Given the description of an element on the screen output the (x, y) to click on. 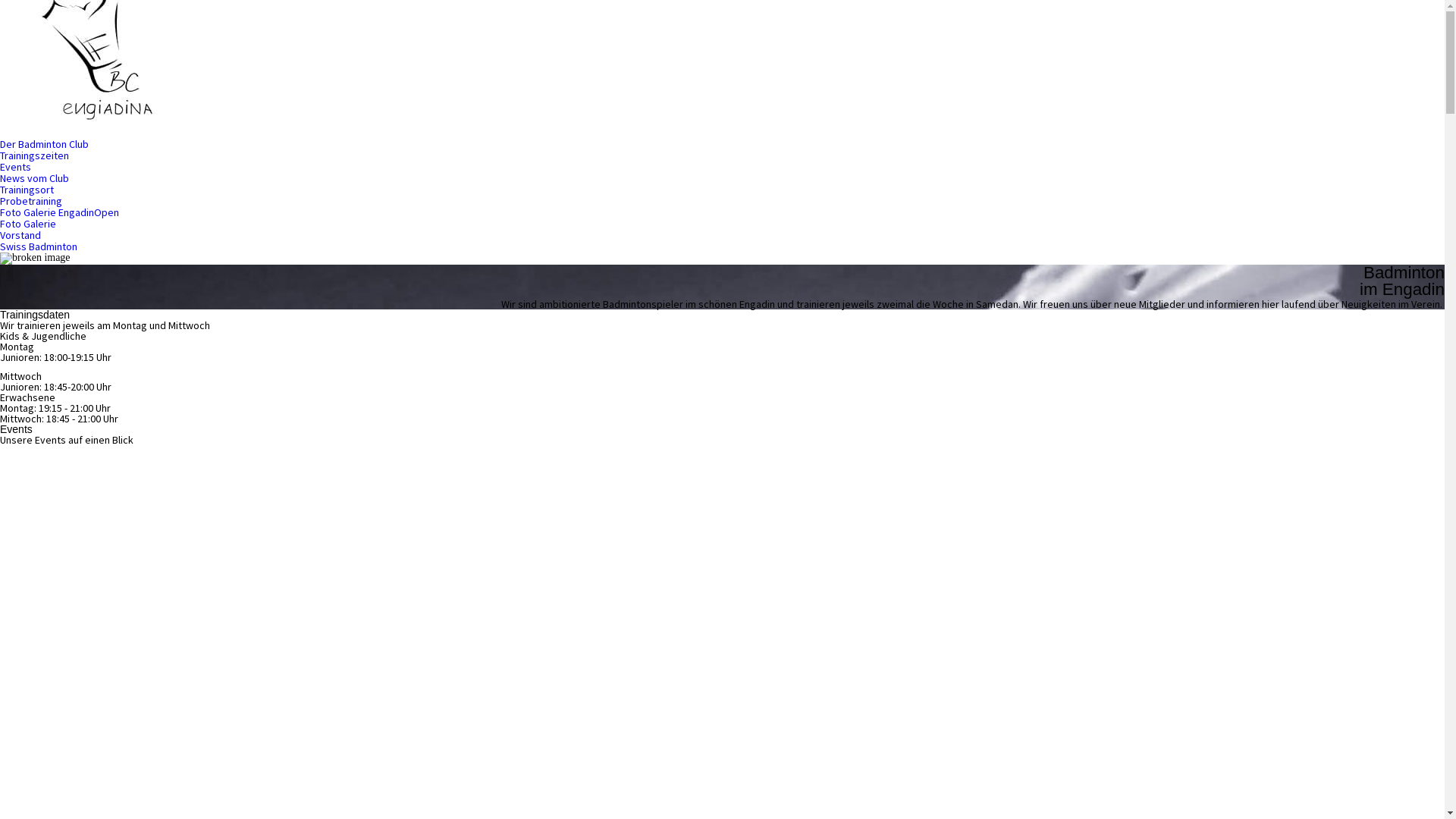
Trainingsort Element type: text (26, 189)
Events Element type: text (15, 166)
Vorstand Element type: text (20, 235)
Swiss Badminton Element type: text (38, 246)
Probetraining Element type: text (31, 201)
Trainingszeiten Element type: text (34, 155)
Foto Galerie Element type: text (28, 223)
Der Badminton Club Element type: text (44, 144)
Foto Galerie EngadinOpen Element type: text (59, 212)
News vom Club Element type: text (34, 178)
